Given the description of an element on the screen output the (x, y) to click on. 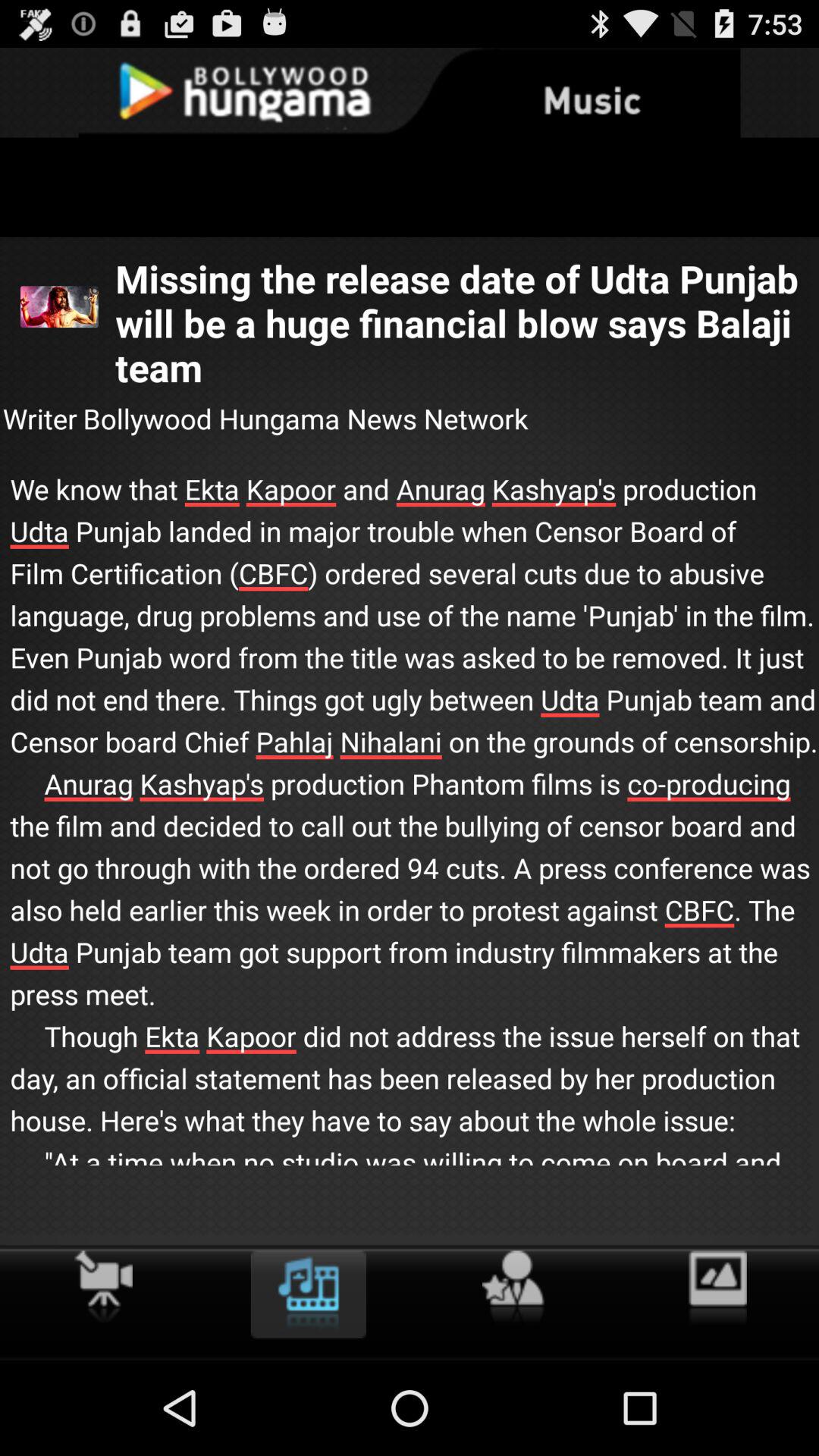
record (103, 1286)
